Given the description of an element on the screen output the (x, y) to click on. 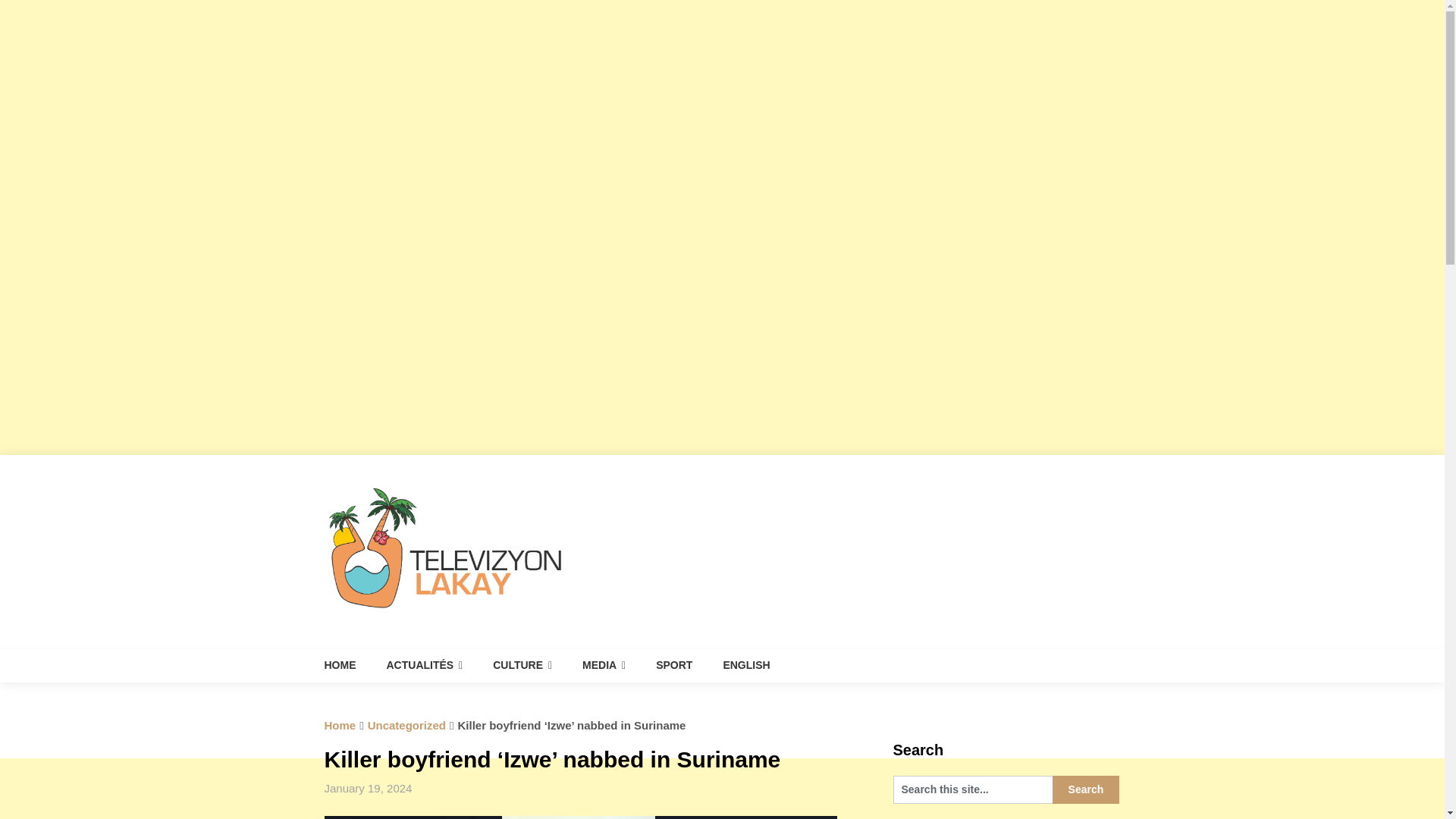
HOME (347, 665)
Search (1085, 789)
CULTURE (522, 665)
Search (1085, 789)
MEDIA (603, 665)
Home (340, 725)
Search this site... (972, 789)
Uncategorized (406, 725)
SPORT (673, 665)
